Given the description of an element on the screen output the (x, y) to click on. 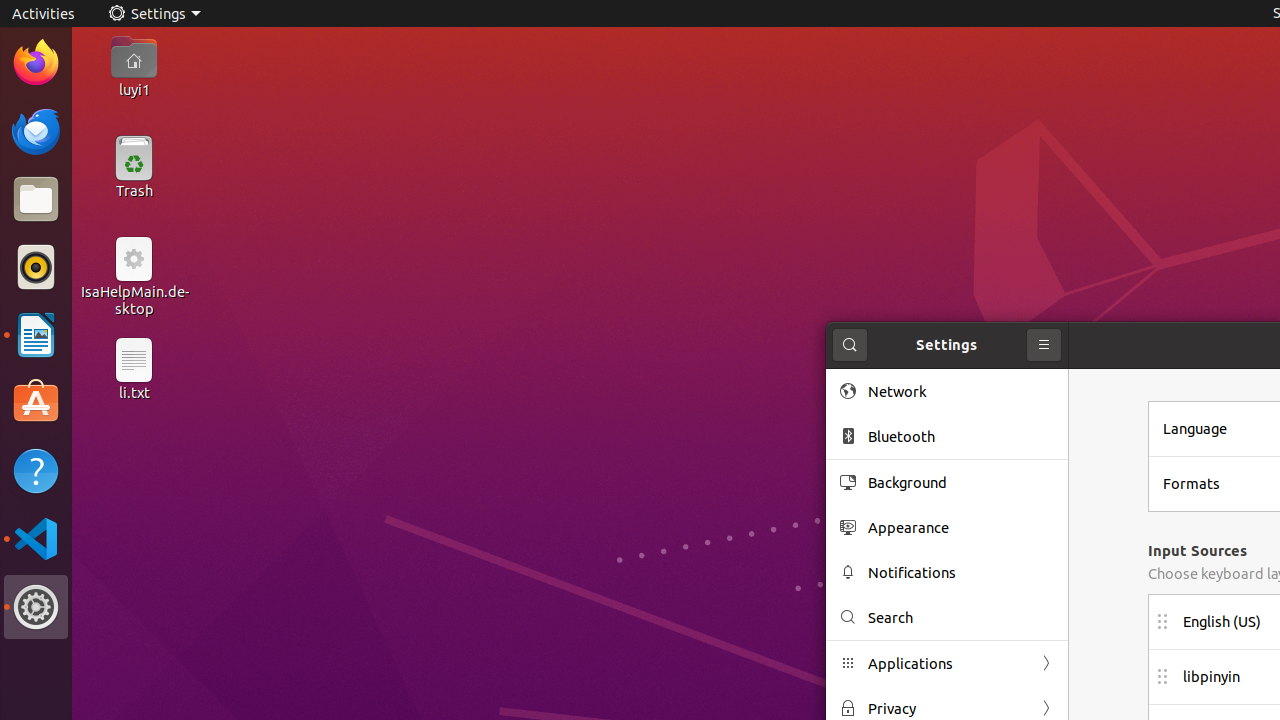
IsaHelpMain.desktop Element type: label (133, 300)
Applications Element type: label (947, 663)
Activities Element type: label (43, 13)
